Given the description of an element on the screen output the (x, y) to click on. 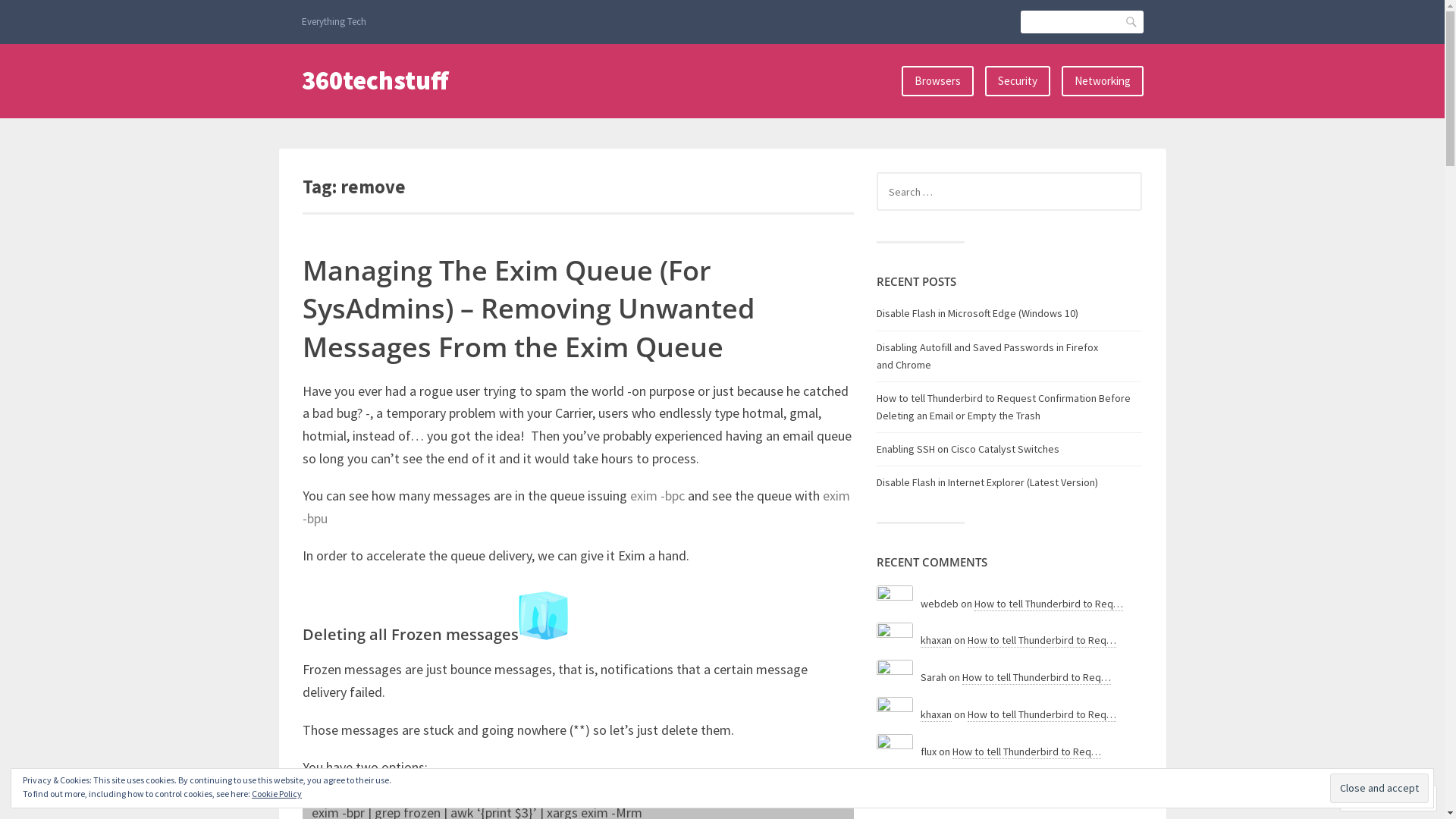
Cookie Policy Element type: text (276, 793)
Disabling Autofill and Saved Passwords in Firefox and Chrome Element type: text (987, 354)
Close and accept Element type: text (1379, 788)
Follow Element type: text (1374, 797)
flux Element type: hover (894, 752)
khaxan Element type: text (935, 640)
khaxan Element type: text (935, 714)
Search Element type: text (28, 8)
Enabling SSH on Cisco Catalyst Switches Element type: text (967, 448)
Networking Element type: text (1102, 80)
Disable Flash in Internet Explorer (Latest Version) Element type: text (987, 482)
khaxan Element type: hover (894, 715)
khaxan Element type: hover (894, 640)
Disable Flash in Microsoft Edge (Windows 10) Element type: text (977, 313)
Sarah Element type: hover (894, 677)
webdeb Element type: hover (894, 603)
360techstuff Element type: text (374, 80)
Search Element type: text (1131, 21)
Browsers Element type: text (936, 80)
Security Element type: text (1016, 80)
